Given the description of an element on the screen output the (x, y) to click on. 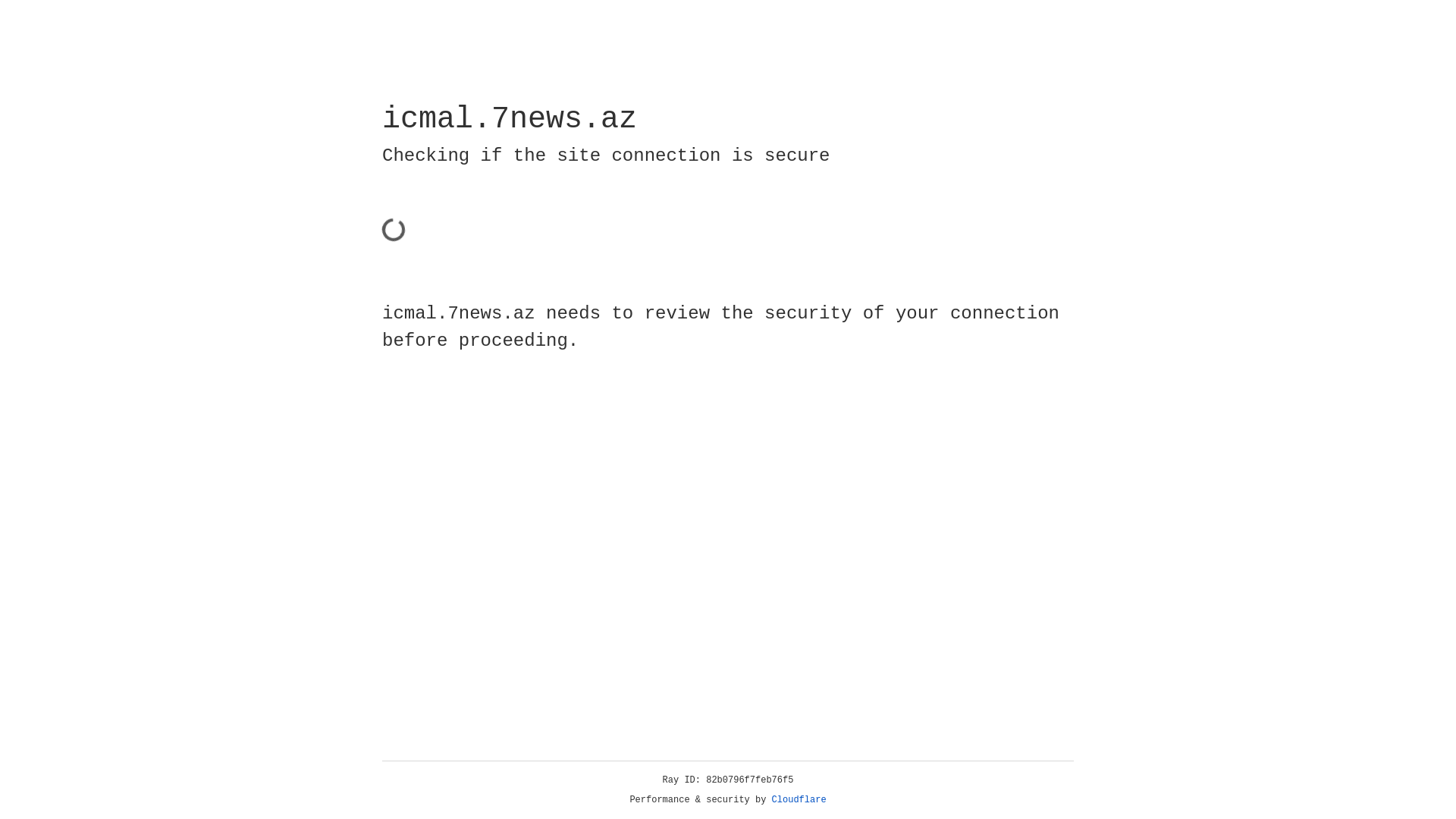
Cloudflare Element type: text (798, 799)
